Given the description of an element on the screen output the (x, y) to click on. 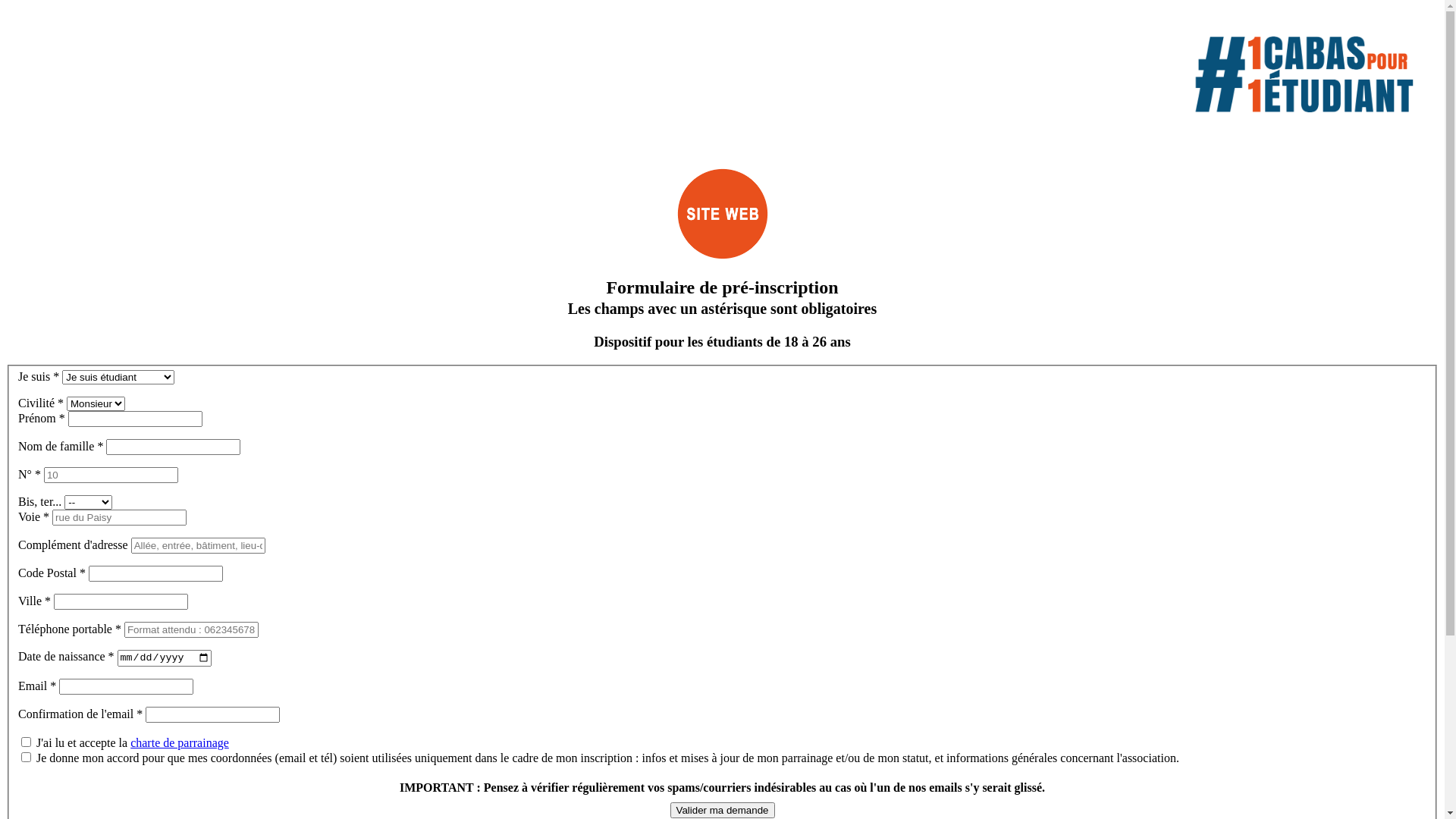
Valider ma demande Element type: text (722, 810)
charte de parrainage Element type: text (179, 742)
